Given the description of an element on the screen output the (x, y) to click on. 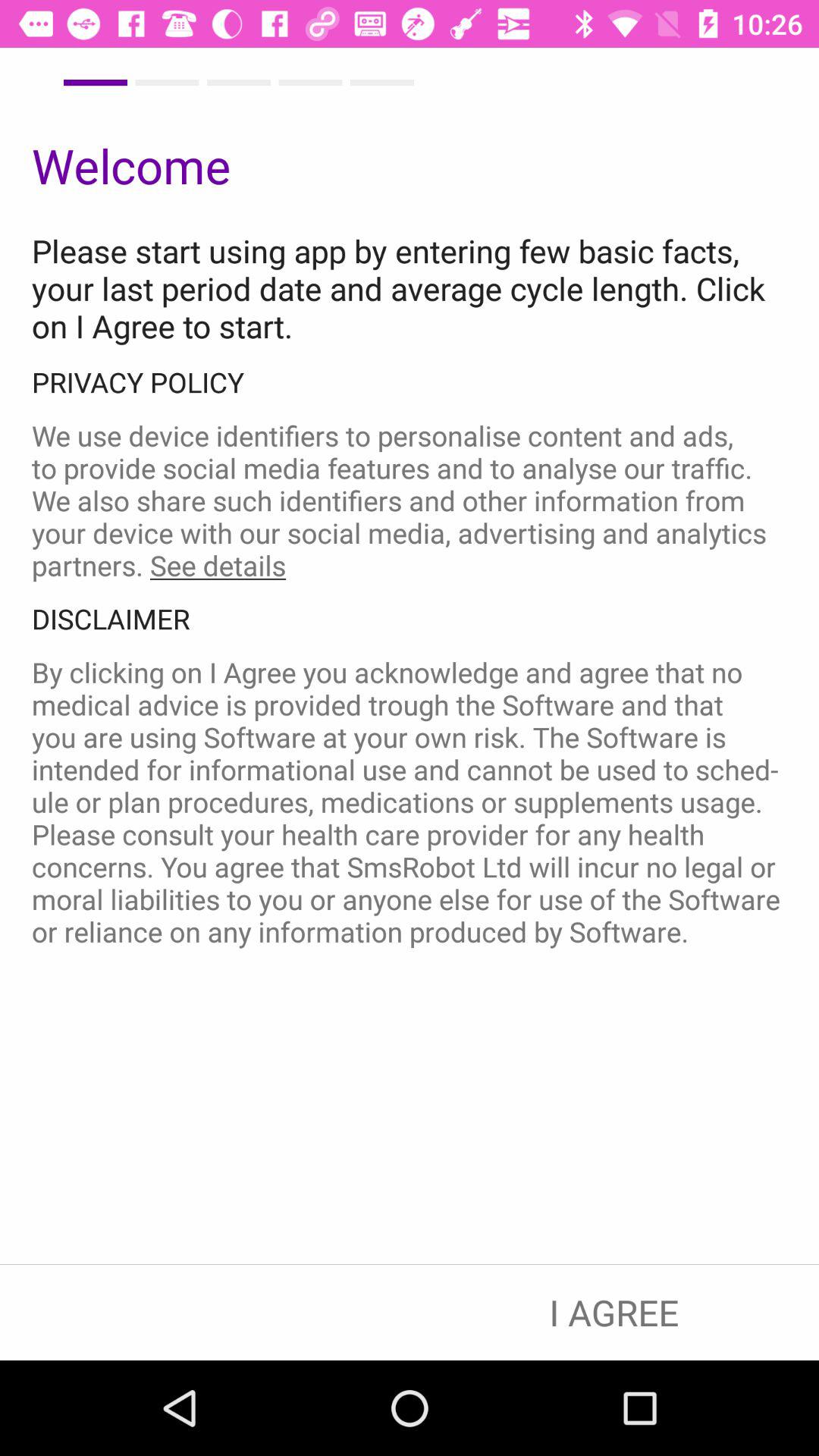
tap item above disclaimer icon (409, 500)
